Given the description of an element on the screen output the (x, y) to click on. 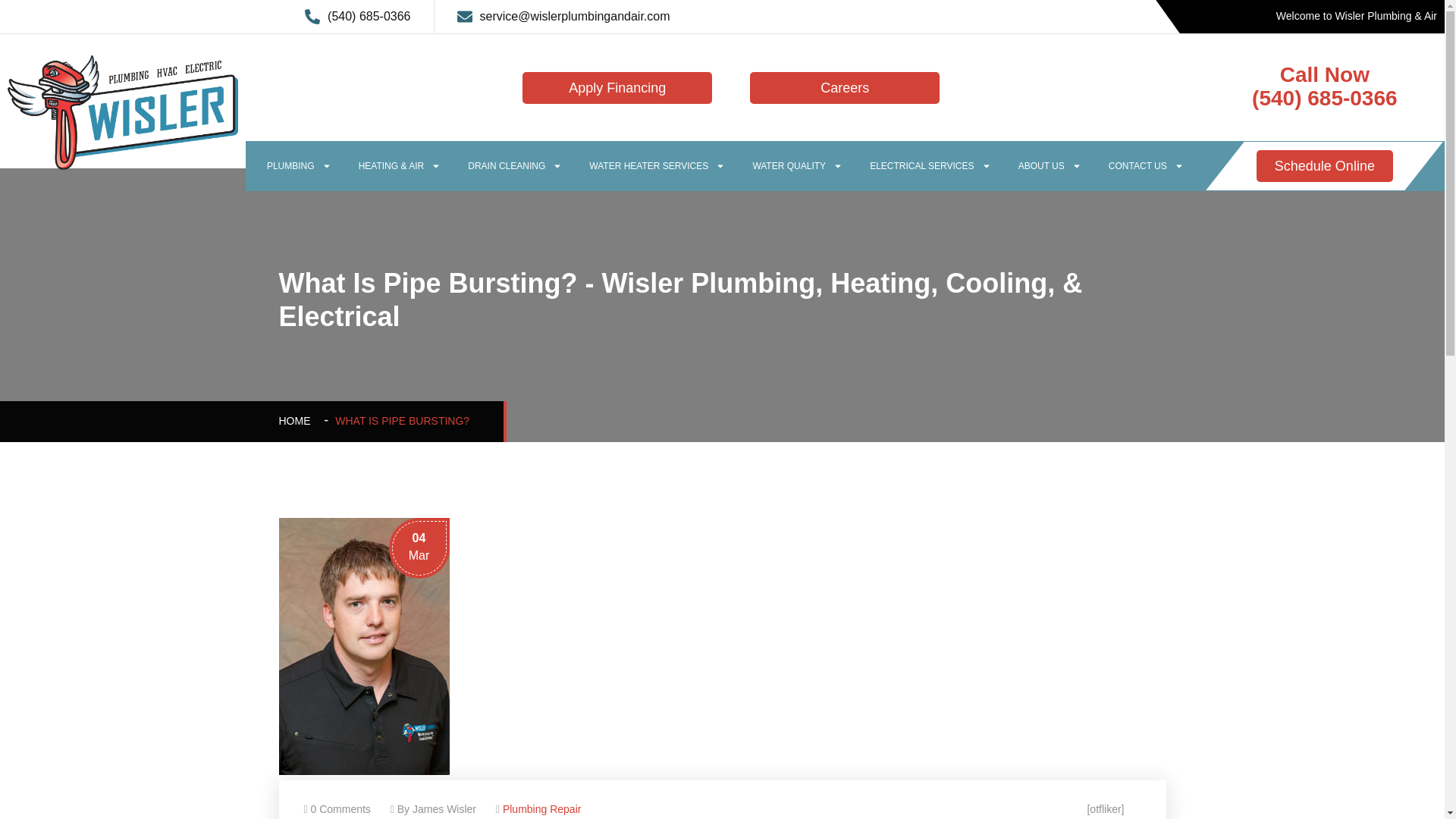
PLUMBING (299, 165)
DRAIN CLEANING (514, 165)
Careers (844, 88)
WATER QUALITY (797, 165)
ELECTRICAL SERVICES (930, 165)
WATER HEATER SERVICES (656, 165)
ABOUT US (1049, 165)
CONTACT US (1145, 165)
Apply Financing (616, 88)
